Given the description of an element on the screen output the (x, y) to click on. 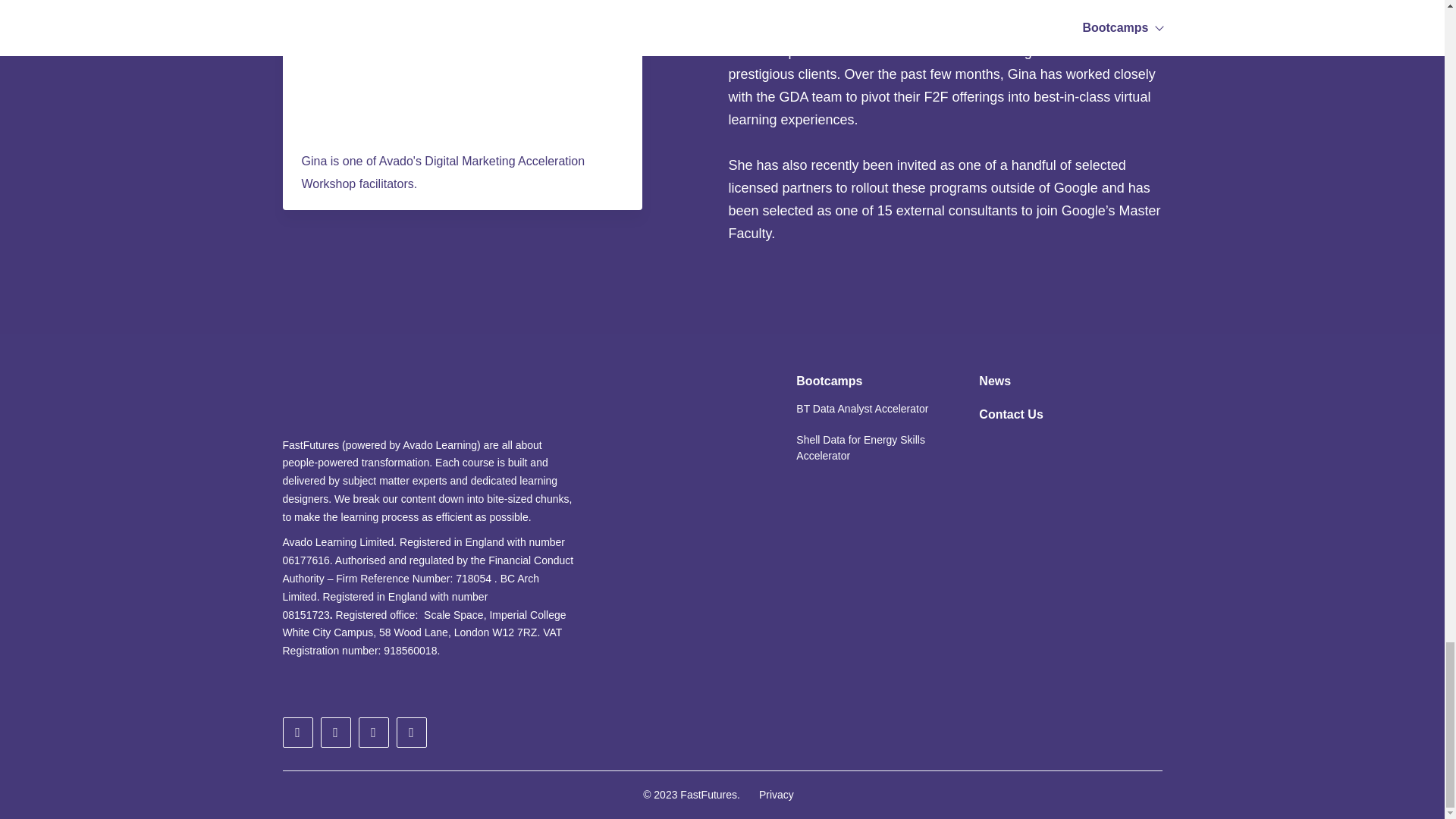
Twitter (297, 732)
Linkedin (335, 732)
Contact Us (1010, 414)
Facebook (373, 732)
BT Data Analyst Accelerator (862, 408)
Instagram (411, 732)
Shell Data for Energy Skills Accelerator (868, 447)
News (994, 381)
Privacy (775, 794)
Bootcamps (828, 381)
